Given the description of an element on the screen output the (x, y) to click on. 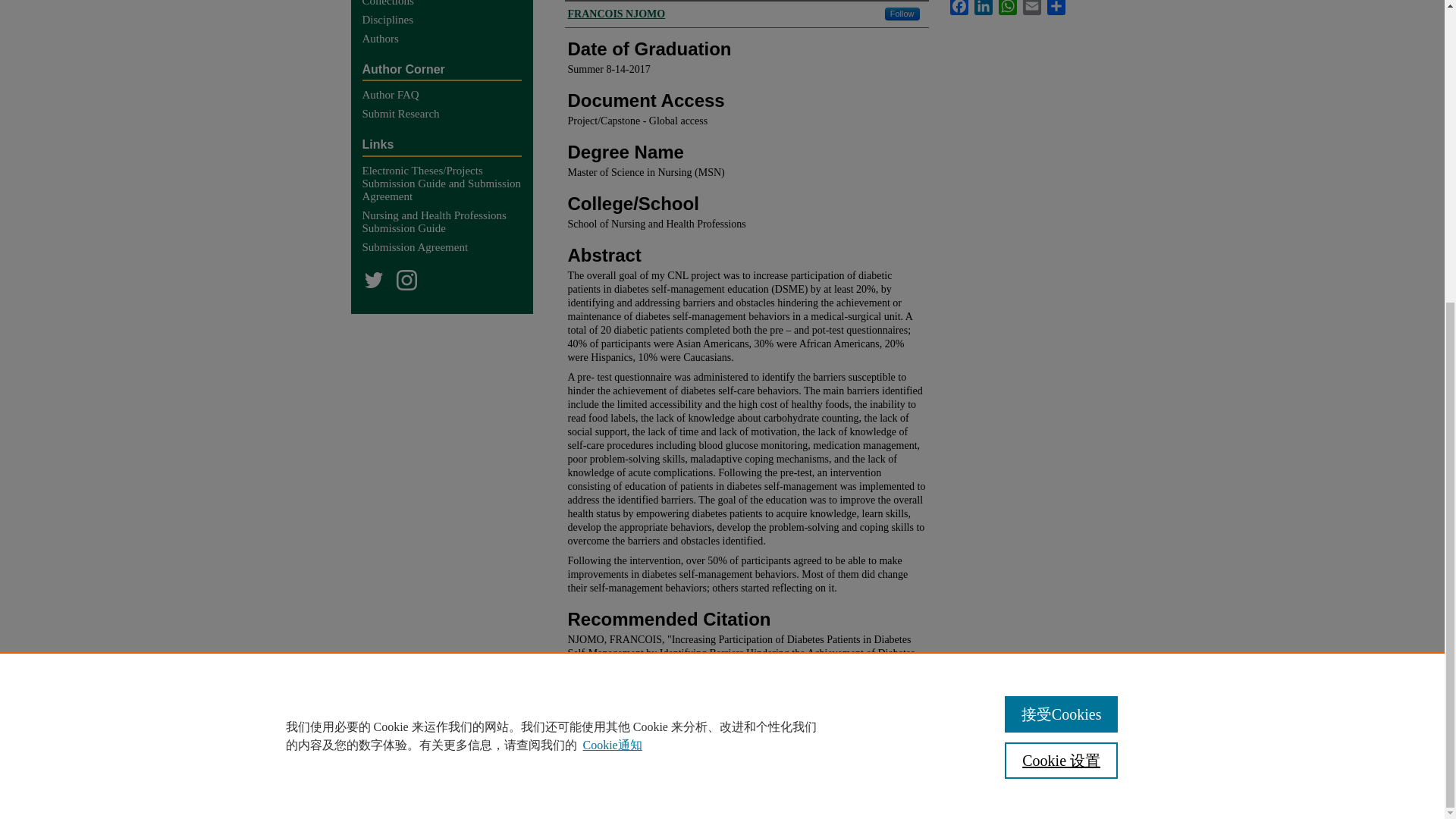
Author FAQ (447, 94)
Submit Research (447, 113)
Follow (902, 13)
Facebook (958, 7)
WhatsApp (1006, 7)
Disciplines (447, 19)
LinkedIn (982, 7)
Browse by Disciplines (447, 19)
Follow FRANCOIS NJOMO (902, 13)
FRANCOIS NJOMO (616, 14)
Collections (447, 3)
Authors (447, 38)
Browse by Collections (447, 3)
Email (1031, 7)
